Given the description of an element on the screen output the (x, y) to click on. 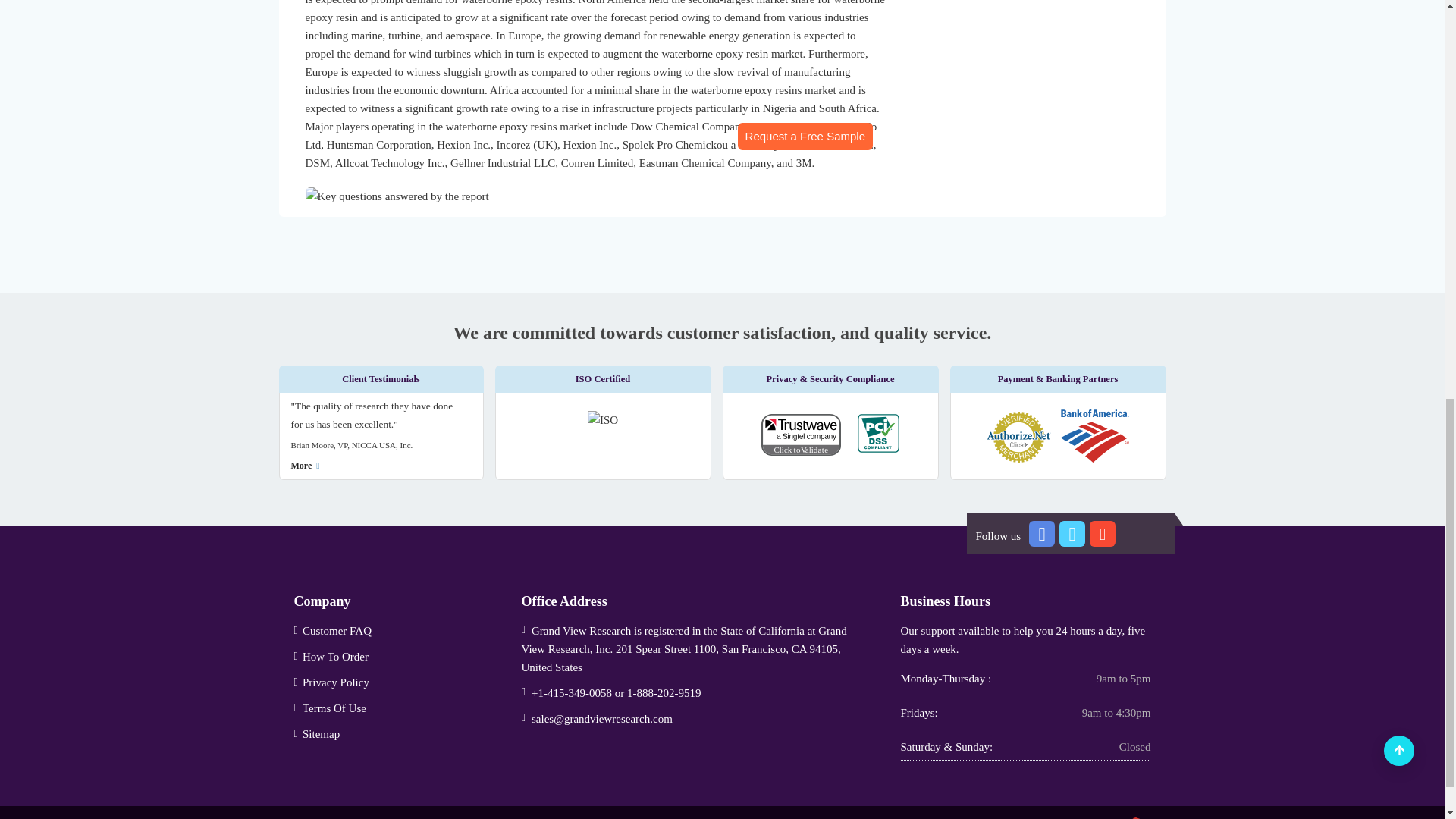
Click to Validate (808, 438)
